Given the description of an element on the screen output the (x, y) to click on. 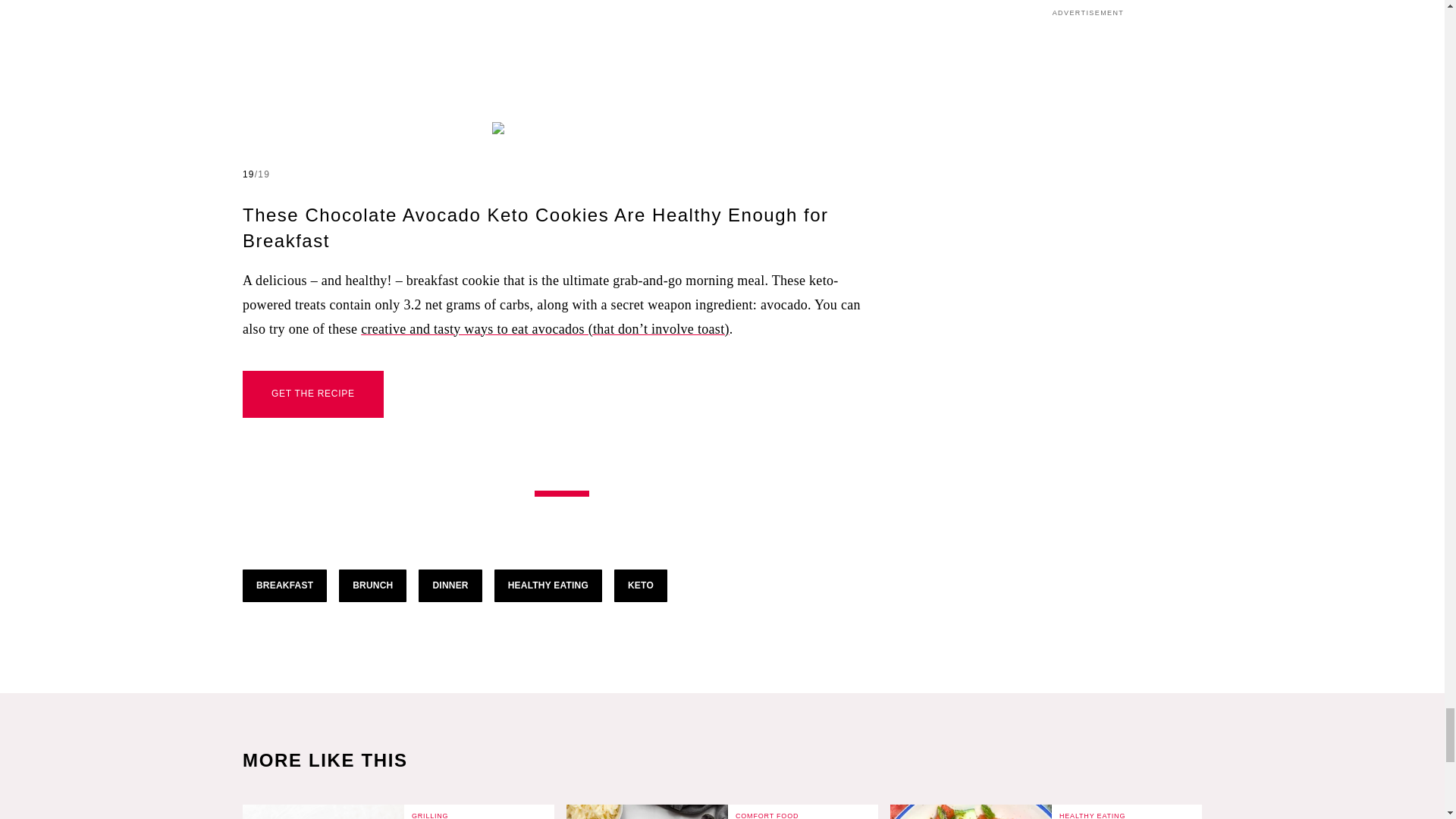
Bobby Flay's Spicy Grilled Fish Tacos (323, 811)
